Given the description of an element on the screen output the (x, y) to click on. 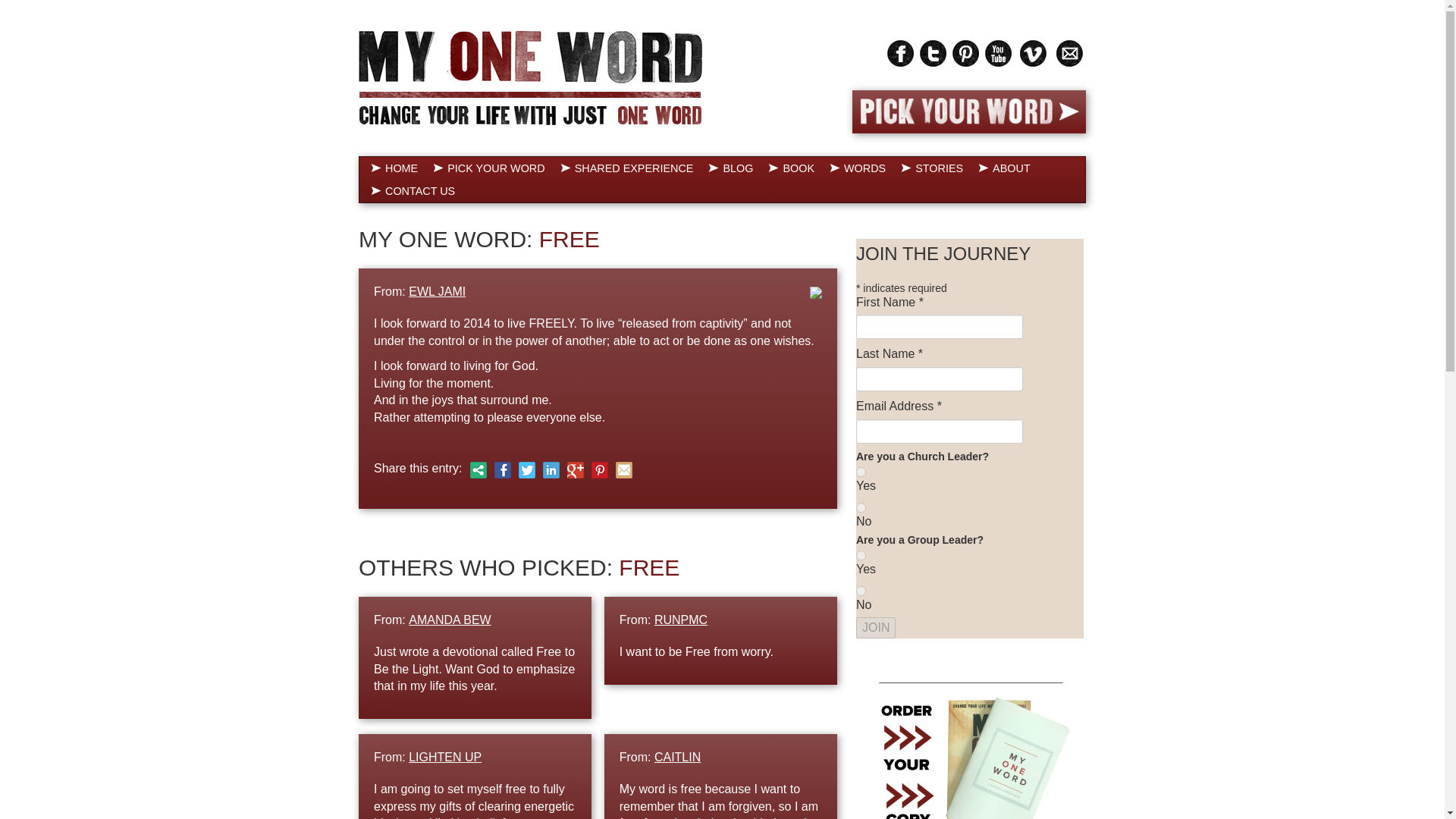
STORIES (932, 168)
WORDS (857, 168)
CAITLIN (676, 757)
ABOUT (1004, 168)
AMANDA BEW (449, 619)
No (861, 507)
Yes (861, 555)
EWL JAMI (437, 291)
Yes (861, 471)
No (861, 591)
CONTACT US (412, 190)
JOIN (875, 627)
SHARED EXPERIENCE (627, 168)
LIGHTEN UP (445, 757)
BOOK (791, 168)
